Given the description of an element on the screen output the (x, y) to click on. 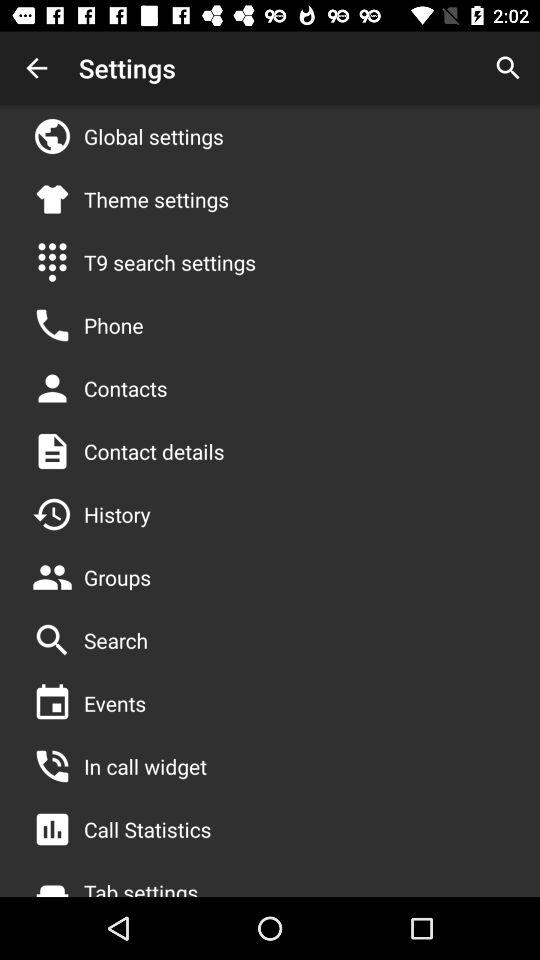
open icon above theme settings app (153, 136)
